Given the description of an element on the screen output the (x, y) to click on. 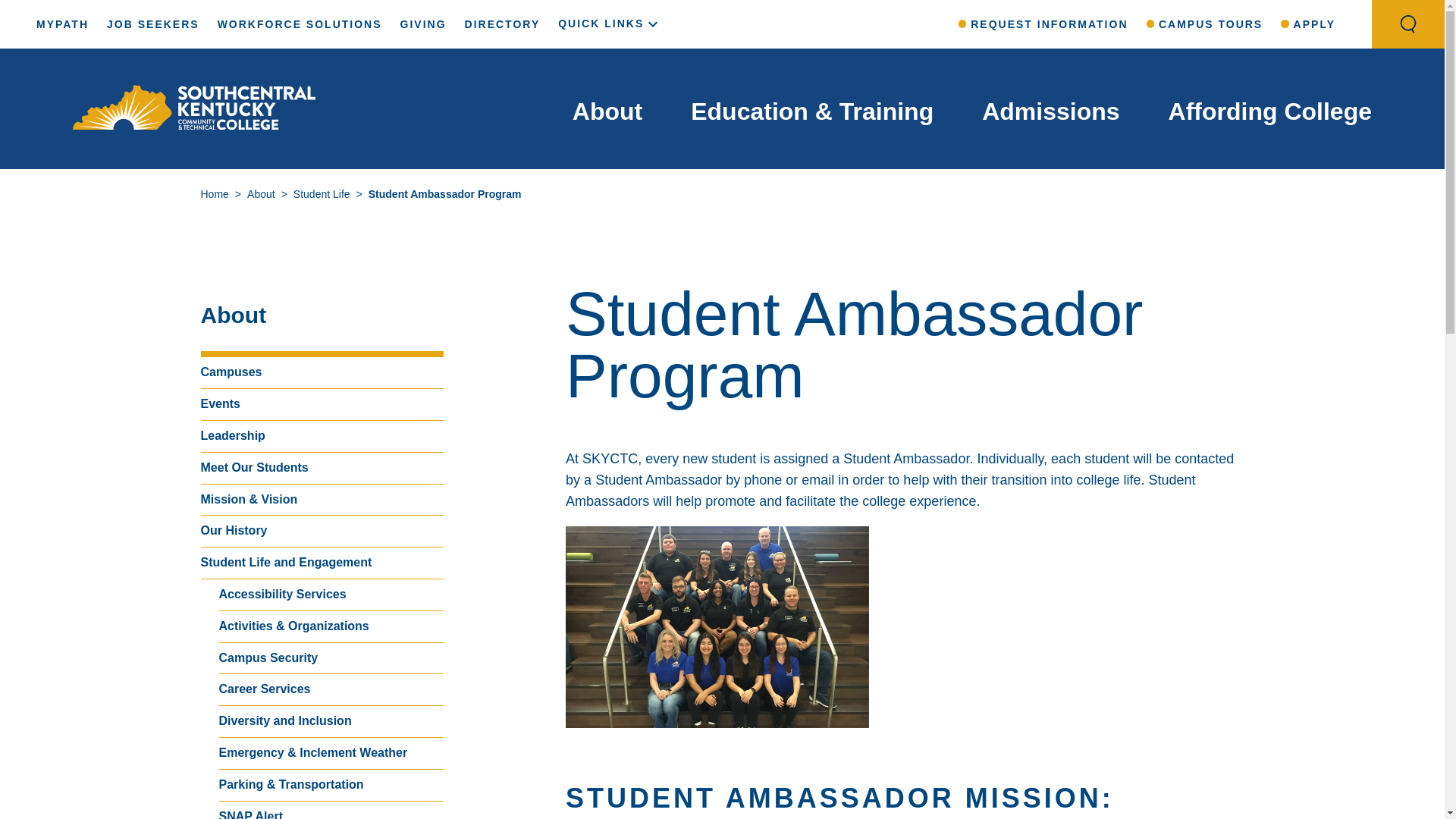
REQUEST INFORMATION (1043, 24)
DIRECTORY (502, 23)
APPLY (1308, 24)
WORKFORCE SOLUTIONS (298, 23)
JOB SEEKERS (152, 23)
CAMPUS TOURS (1205, 24)
MYPATH (62, 23)
GIVING (423, 23)
QUICK LINKS (609, 22)
